Given the description of an element on the screen output the (x, y) to click on. 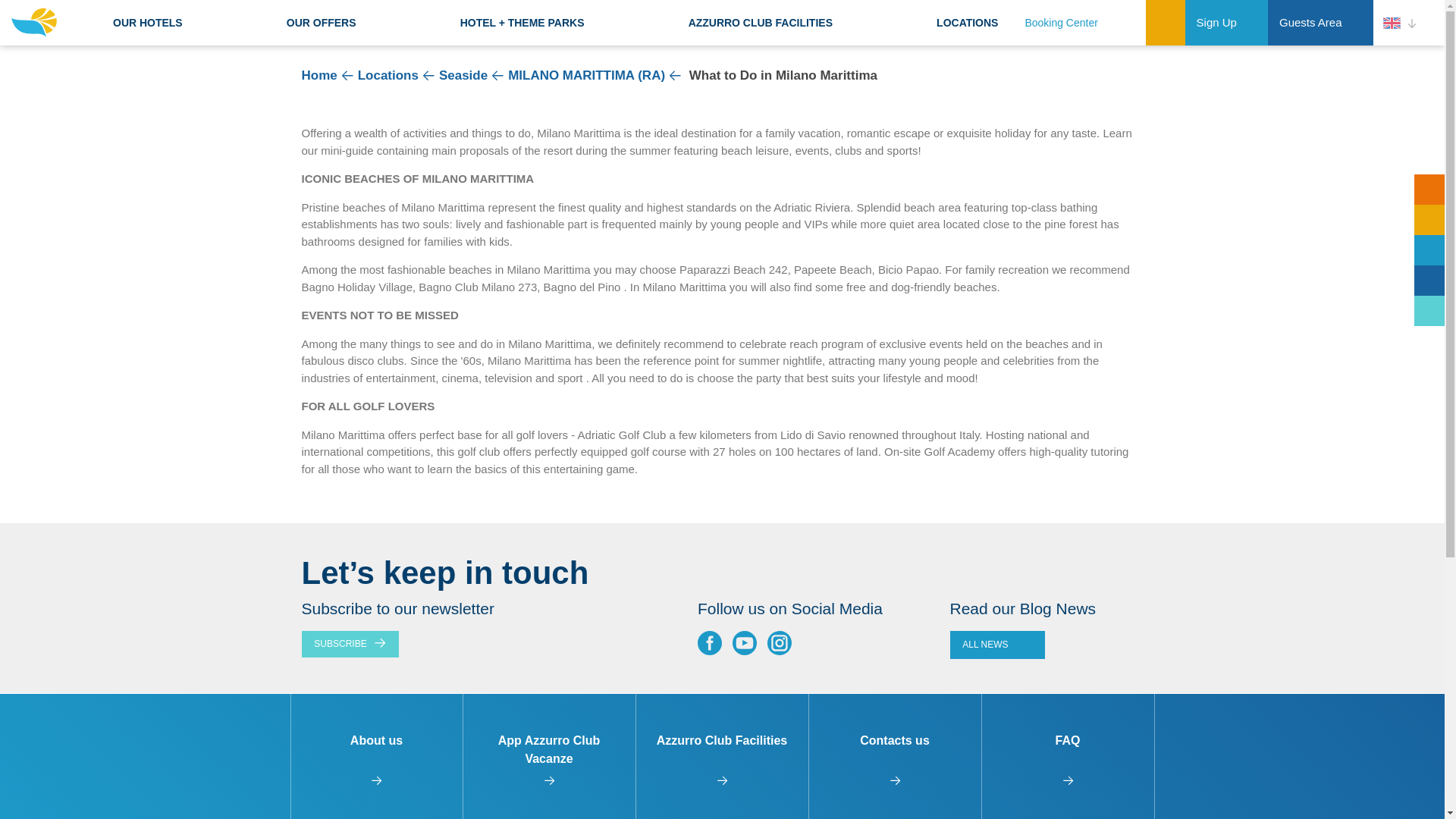
Booking Center (1079, 22)
SUBSCRIBE (349, 643)
Locations (388, 74)
Seaside (463, 74)
OUR HOTELS (147, 22)
Sign Up (1226, 22)
OUR OFFERS (320, 22)
Home (319, 74)
Guests Area (1320, 22)
LOCATIONS (967, 22)
AZZURRO CLUB FACILITIES (759, 22)
